Given the description of an element on the screen output the (x, y) to click on. 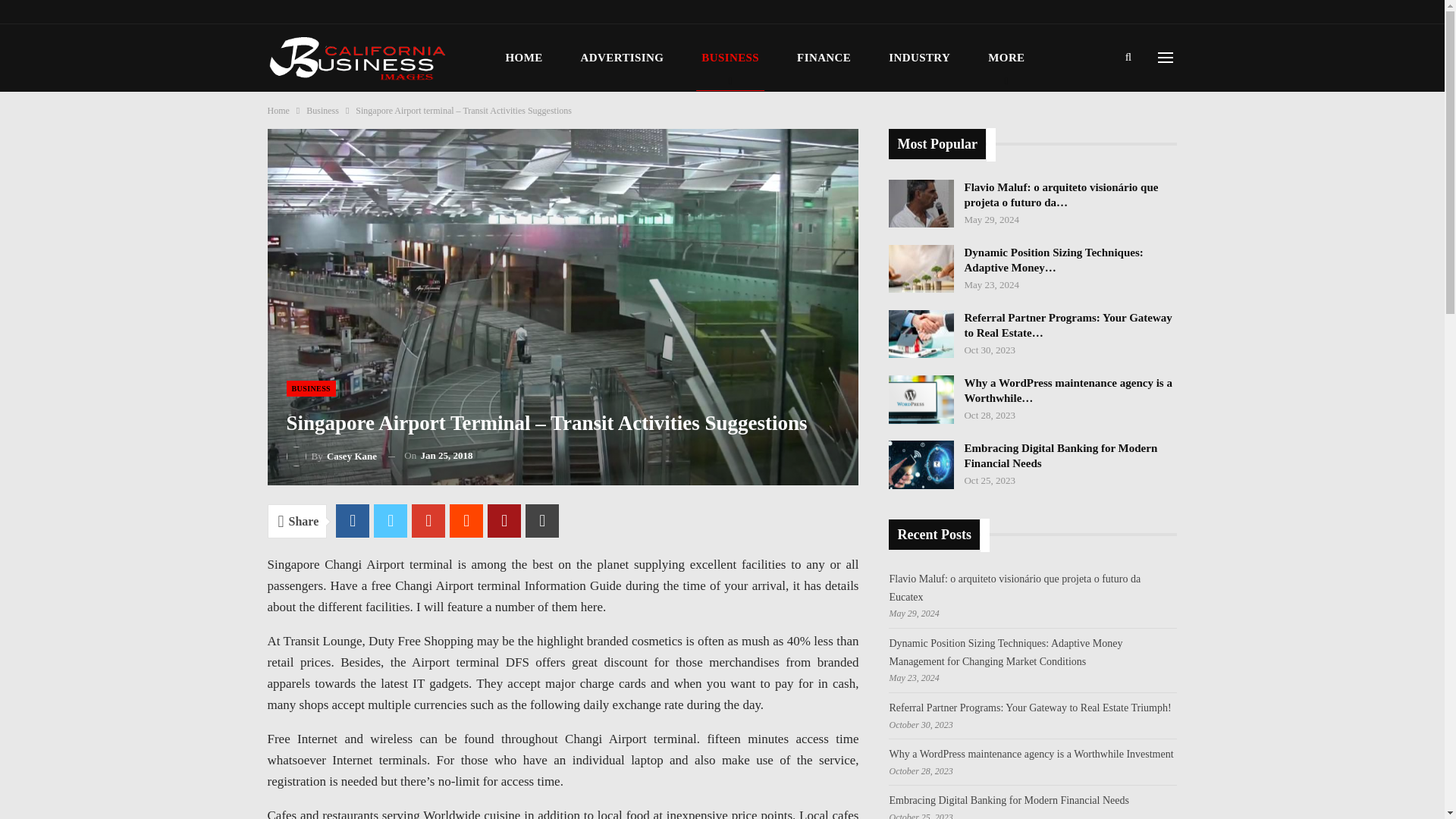
FINANCE (824, 57)
By Casey Kane (331, 455)
Business (322, 110)
MORE (1005, 57)
INDUSTRY (919, 57)
HOME (524, 57)
BUSINESS (729, 57)
Browse Author Articles (331, 455)
BUSINESS (311, 388)
ADVERTISING (622, 57)
Home (277, 110)
